Given the description of an element on the screen output the (x, y) to click on. 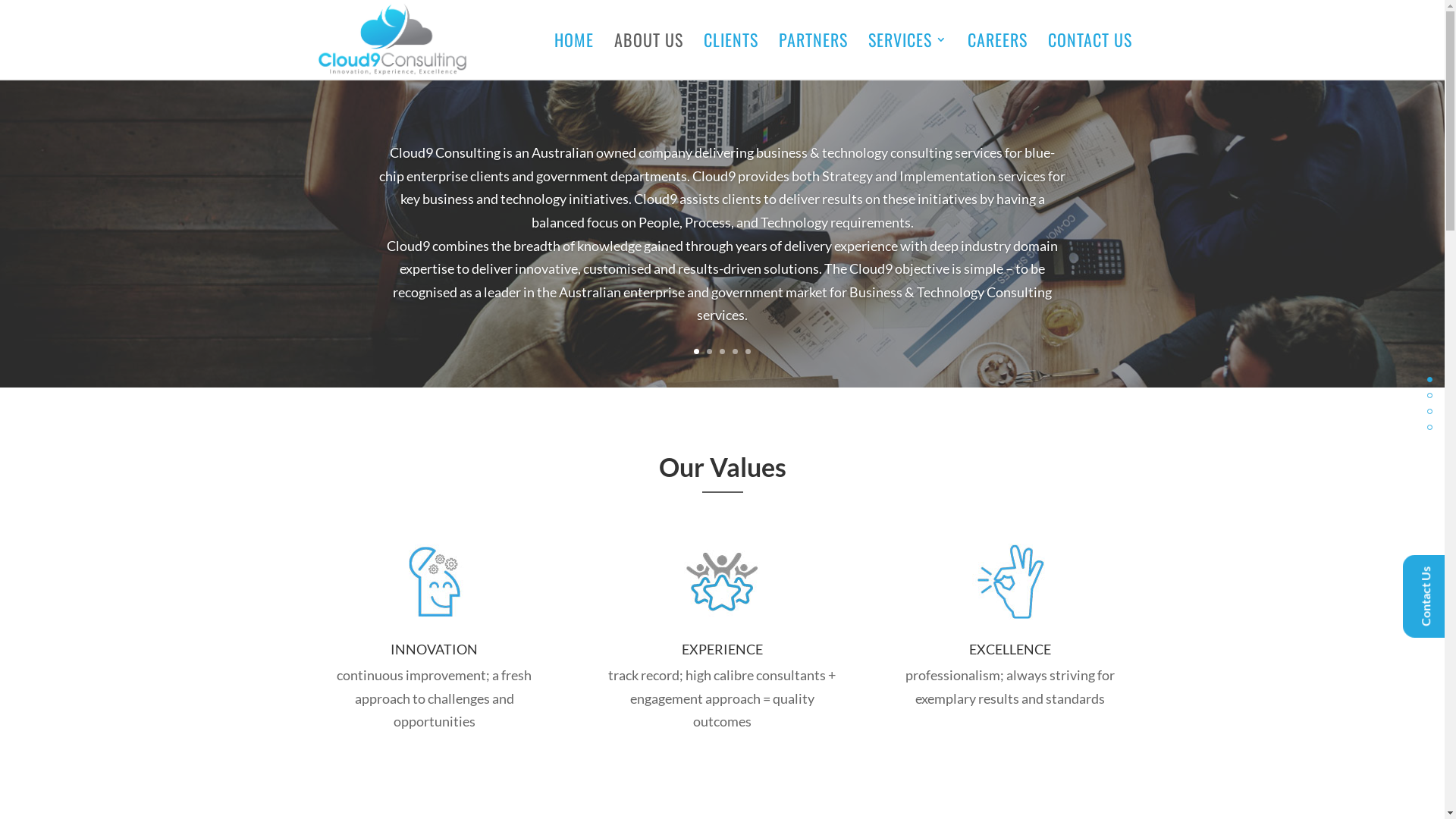
1 Element type: text (1429, 395)
CAREERS Element type: text (997, 56)
HOME Element type: text (573, 56)
2 Element type: text (709, 351)
3 Element type: text (1429, 426)
PARTNERS Element type: text (812, 56)
0 Element type: text (1429, 379)
CLIENTS Element type: text (730, 56)
ABOUT US Element type: text (648, 56)
SERVICES Element type: text (906, 56)
3 Element type: text (721, 351)
4 Element type: text (734, 351)
1 Element type: text (696, 351)
2 Element type: text (1429, 411)
5 Element type: text (747, 351)
CONTACT US Element type: text (1090, 56)
